Given the description of an element on the screen output the (x, y) to click on. 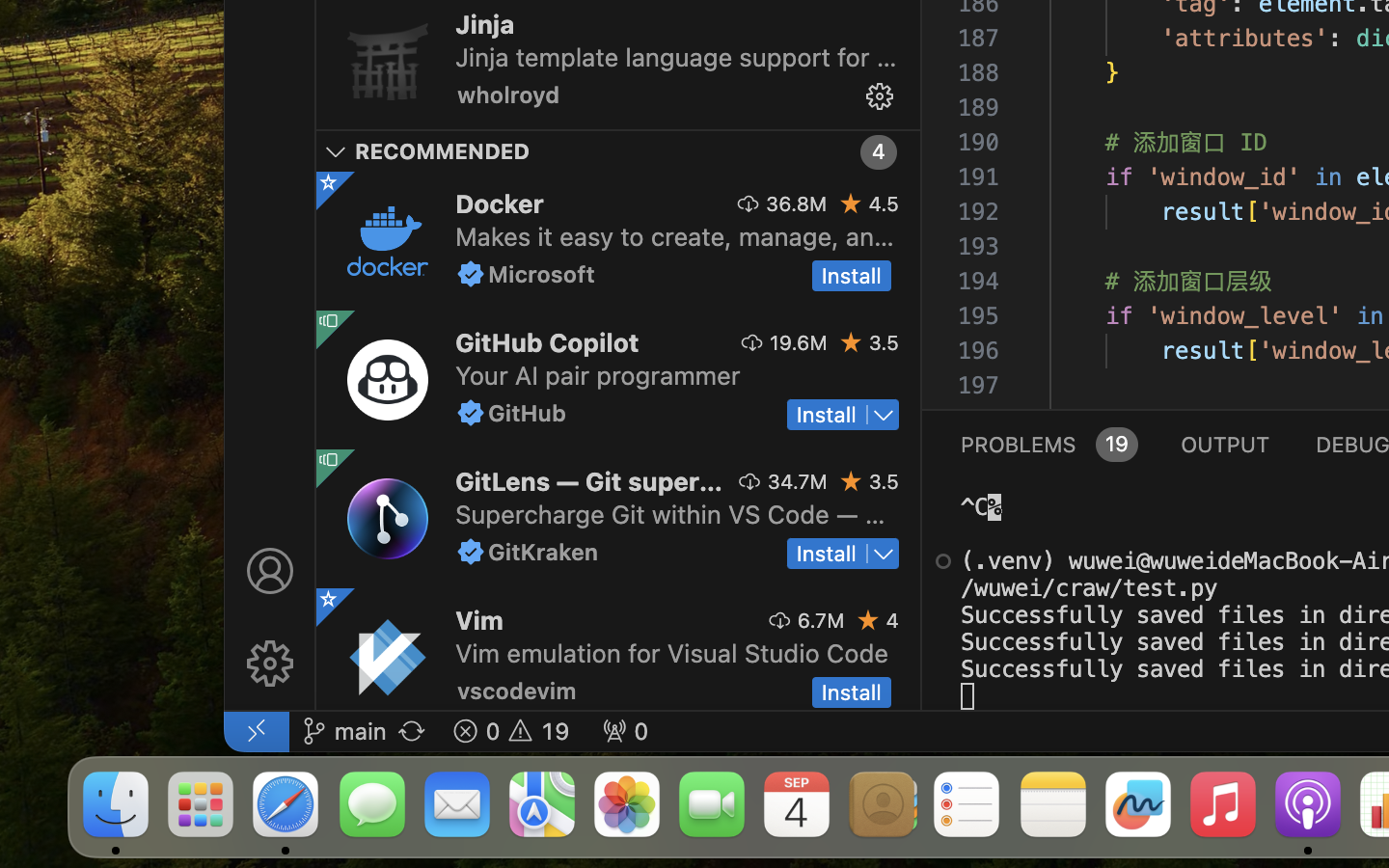
Jinja template language support for Visual Studio Code Element type: AXStaticText (676, 56)
GitKraken Element type: AXStaticText (543, 551)
 Element type: AXStaticText (328, 181)
vscodevim Element type: AXStaticText (516, 690)
 Element type: AXButton (879, 96)
